Given the description of an element on the screen output the (x, y) to click on. 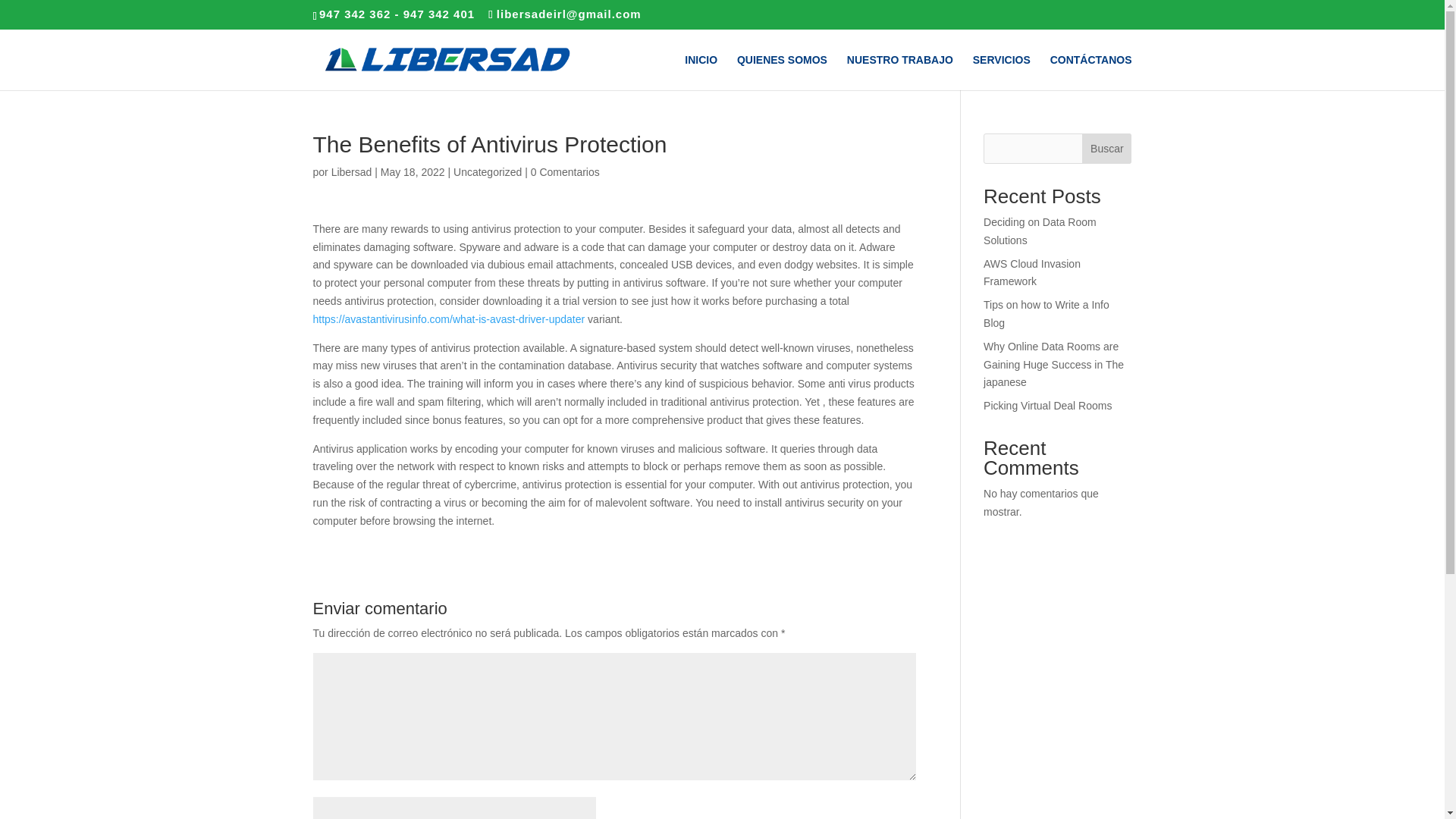
Deciding on Data Room Solutions (1040, 231)
Tips on how to Write a Info Blog (1046, 313)
NUESTRO TRABAJO (900, 72)
Mensajes de Libersad (351, 172)
Uncategorized (486, 172)
Picking Virtual Deal Rooms (1048, 405)
QUIENES SOMOS (781, 72)
INICIO (700, 72)
0 Comentarios (565, 172)
